Given the description of an element on the screen output the (x, y) to click on. 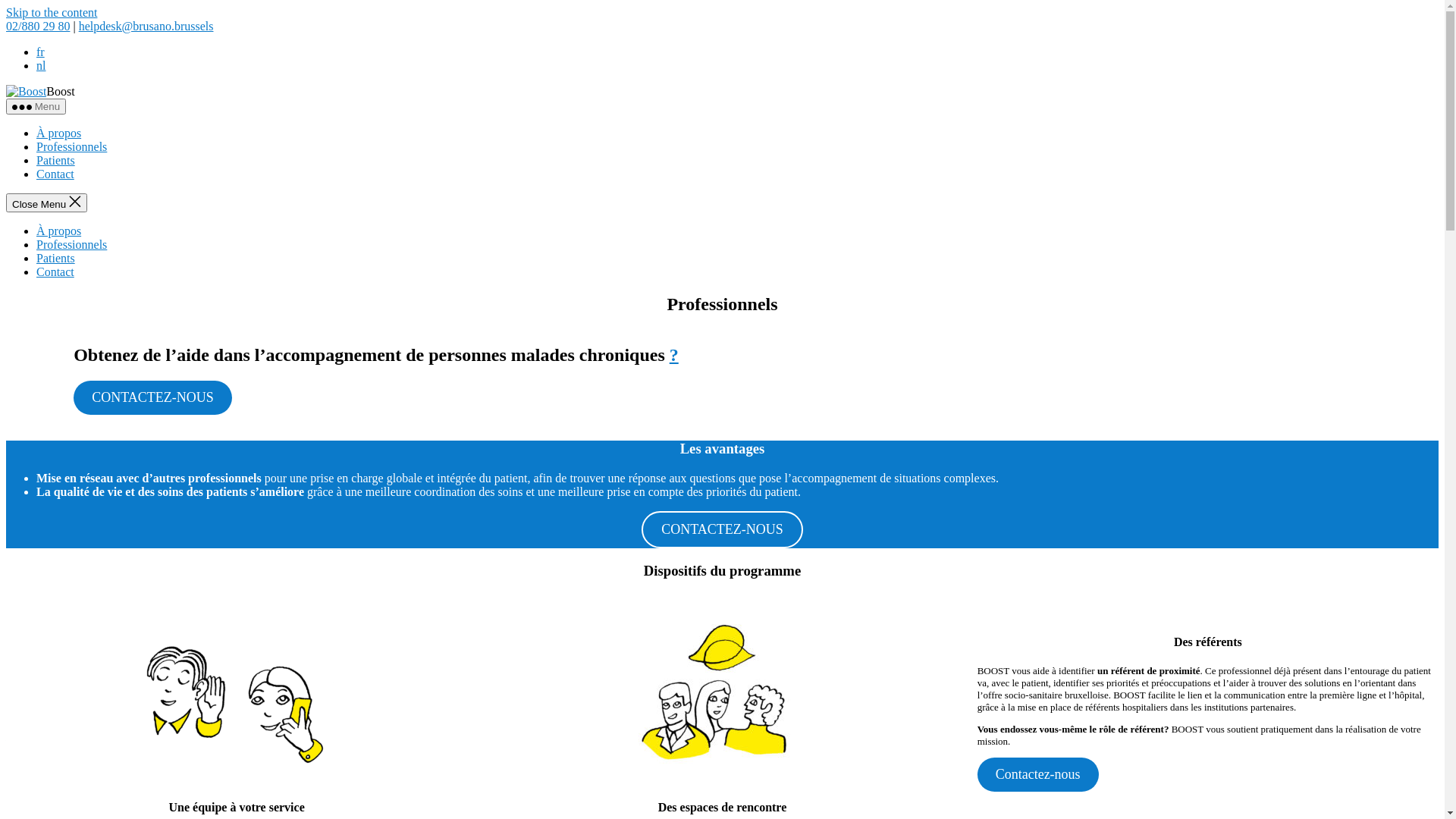
Skip to the content Element type: text (51, 12)
Menu Element type: text (35, 106)
Contact Element type: text (55, 271)
fr Element type: text (40, 51)
Contactez-nous Element type: text (1037, 774)
Contact Element type: text (55, 173)
Patients Element type: text (55, 257)
helpdesk@brusano.brussels Element type: text (145, 25)
CONTACTEZ-NOUS Element type: text (722, 529)
Close Menu Element type: text (46, 202)
Professionnels Element type: text (71, 146)
CONTACTEZ-NOUS Element type: text (152, 397)
02/880 29 80 Element type: text (37, 25)
Patients Element type: text (55, 159)
? Element type: text (673, 354)
nl Element type: text (40, 65)
Professionnels Element type: text (71, 244)
